Given the description of an element on the screen output the (x, y) to click on. 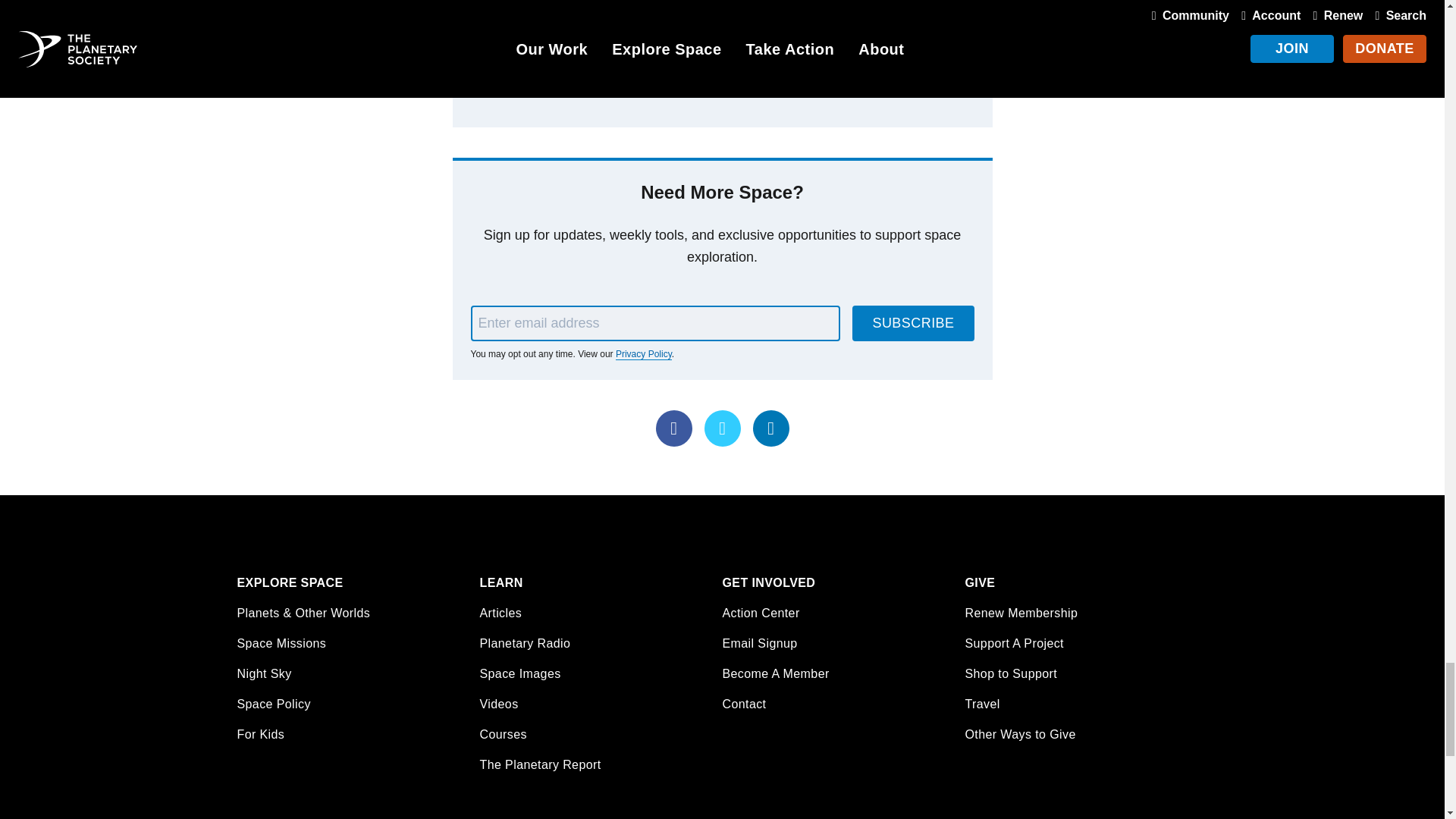
Subscribe (912, 322)
